Given the description of an element on the screen output the (x, y) to click on. 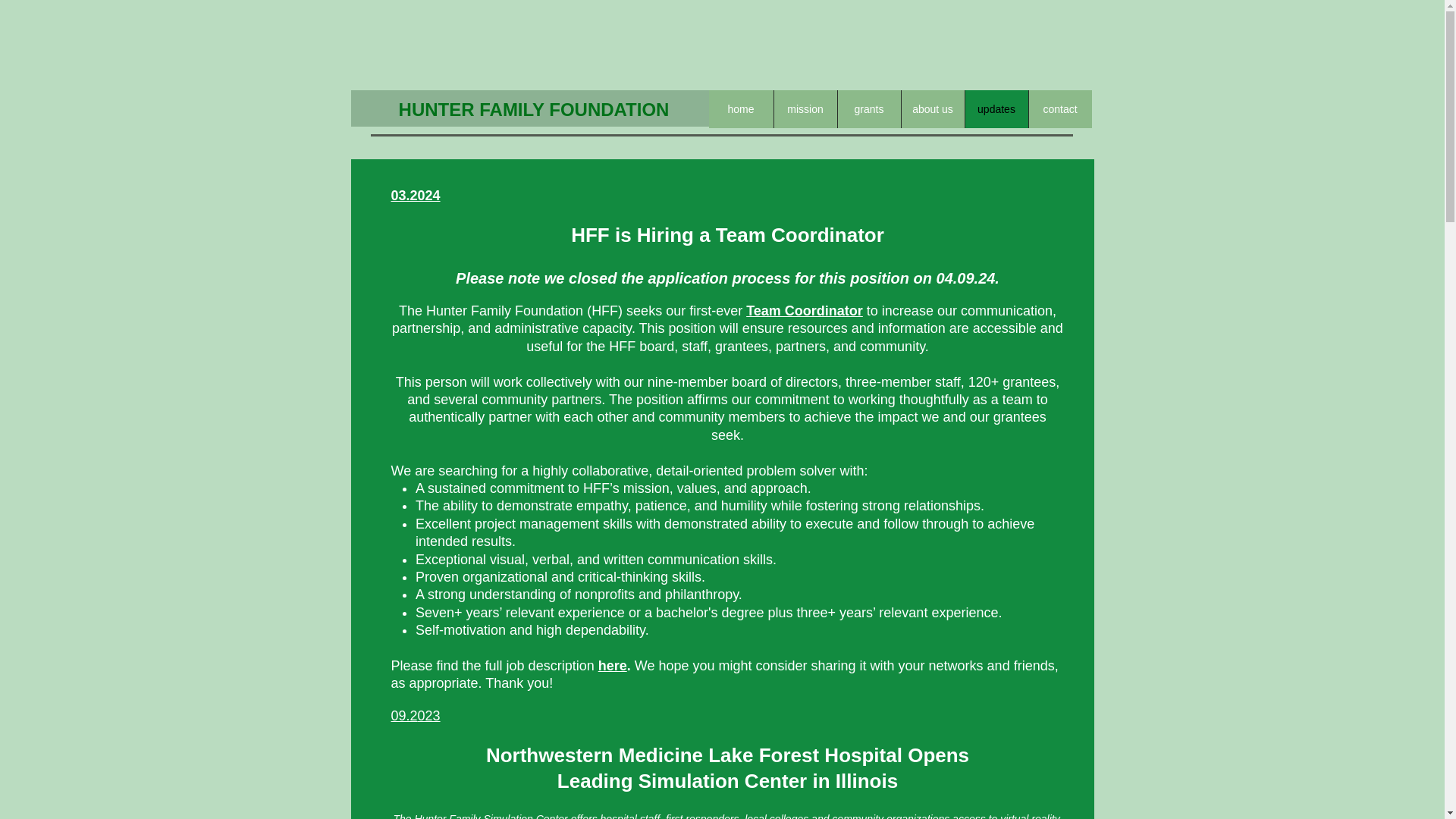
mission (805, 108)
about us (932, 108)
here (612, 665)
grants (869, 108)
home (740, 108)
updates (995, 108)
contact (1059, 108)
Team Coordinator (804, 310)
